Given the description of an element on the screen output the (x, y) to click on. 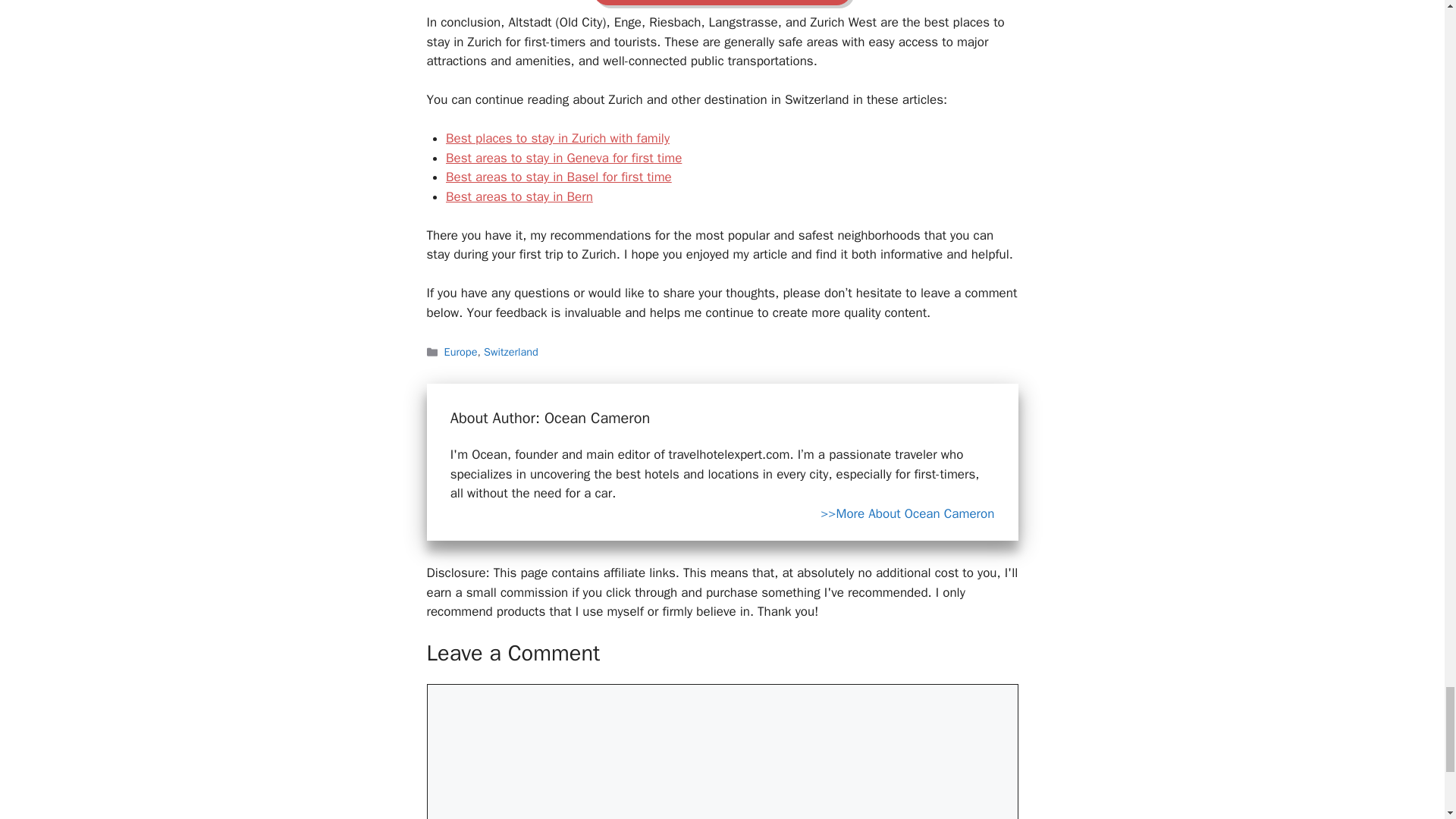
Read more (907, 514)
